Given the description of an element on the screen output the (x, y) to click on. 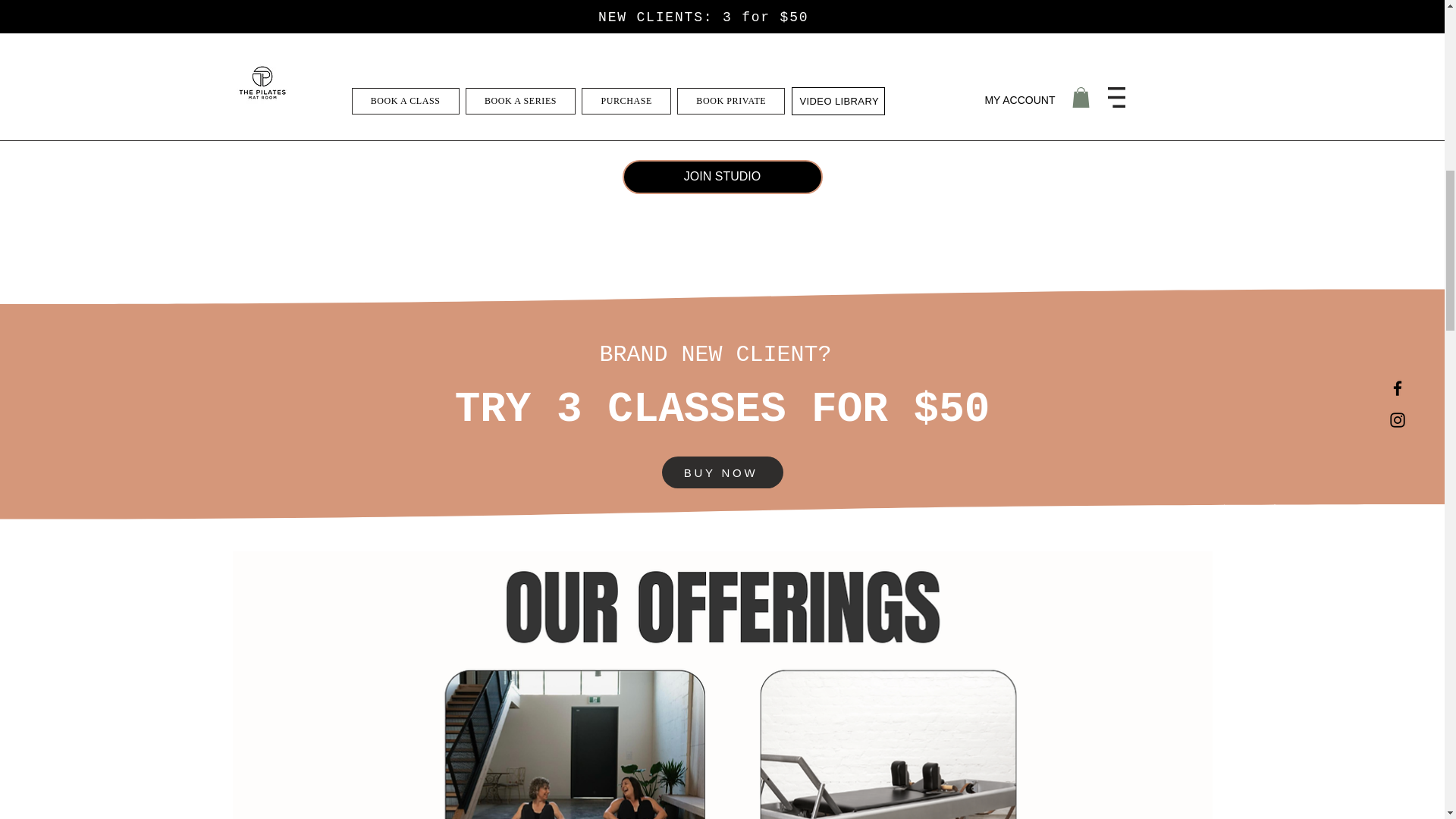
JOIN STUDIO (721, 176)
BUY NOW (722, 472)
